Given the description of an element on the screen output the (x, y) to click on. 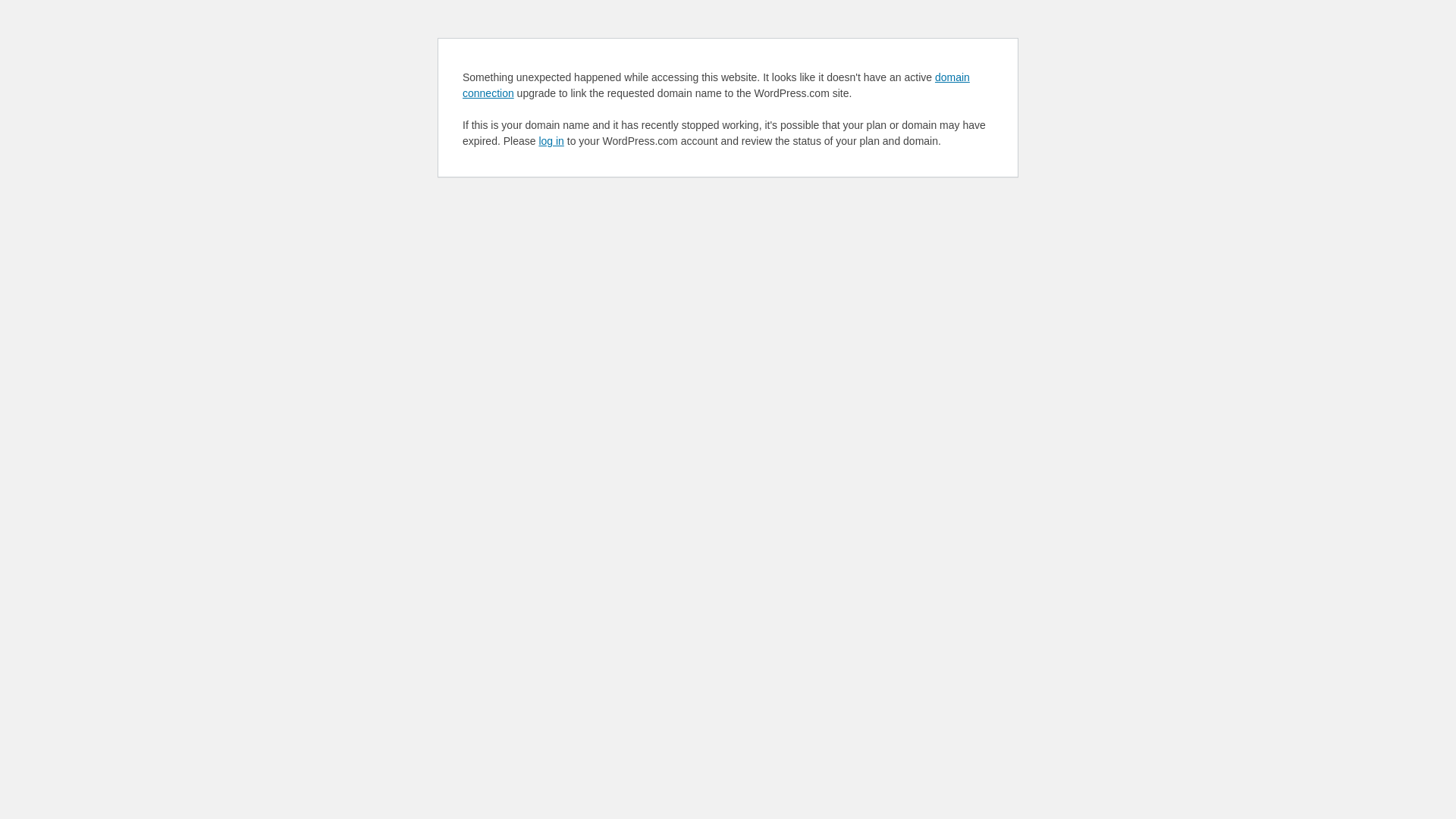
log in Element type: text (550, 140)
domain connection Element type: text (715, 85)
